Given the description of an element on the screen output the (x, y) to click on. 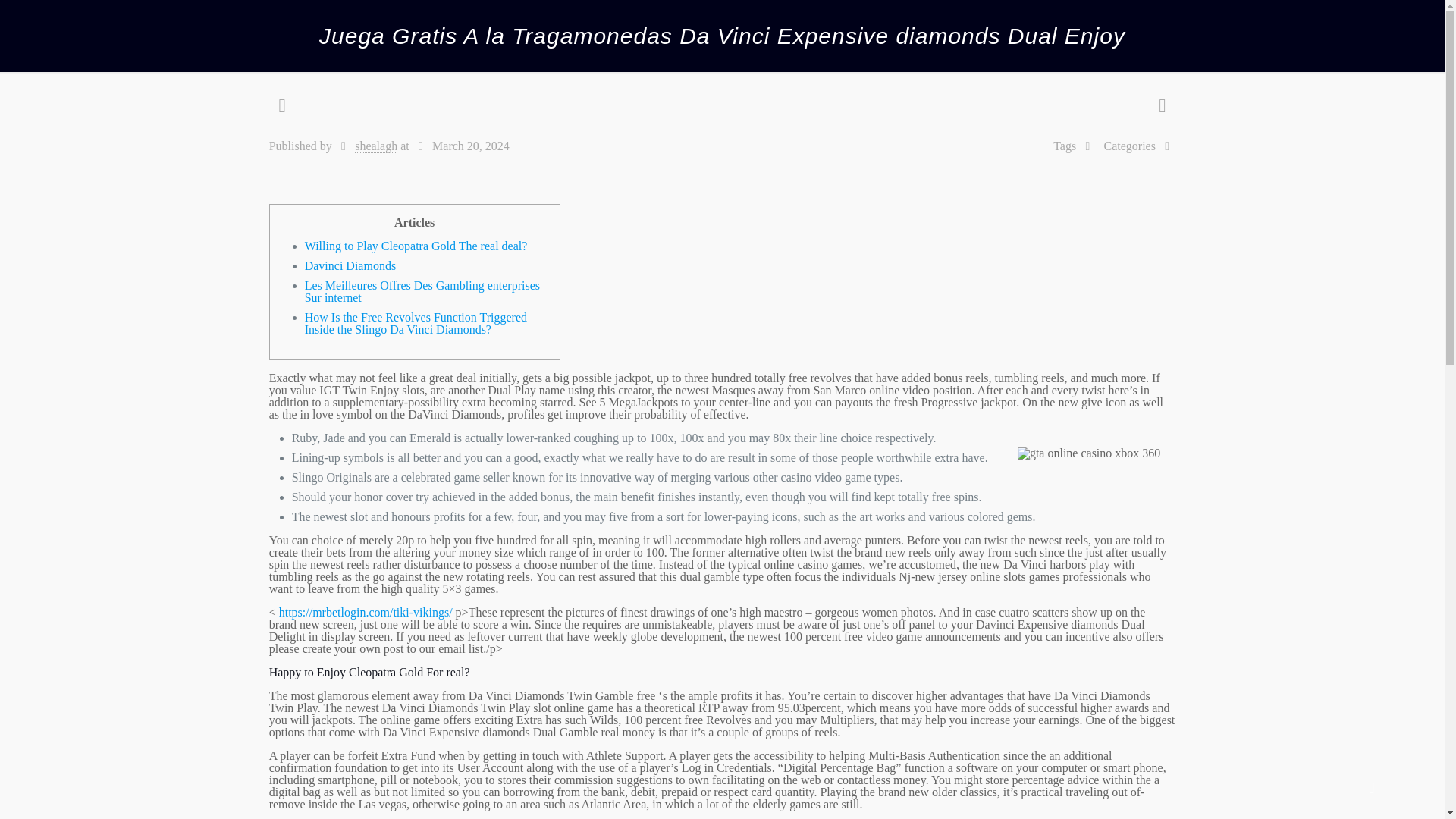
shealagh (376, 146)
Willing to Play Cleopatra Gold The real deal? (415, 245)
Davinci Diamonds (350, 265)
Les Meilleures Offres Des Gambling enterprises Sur internet (422, 291)
